Given the description of an element on the screen output the (x, y) to click on. 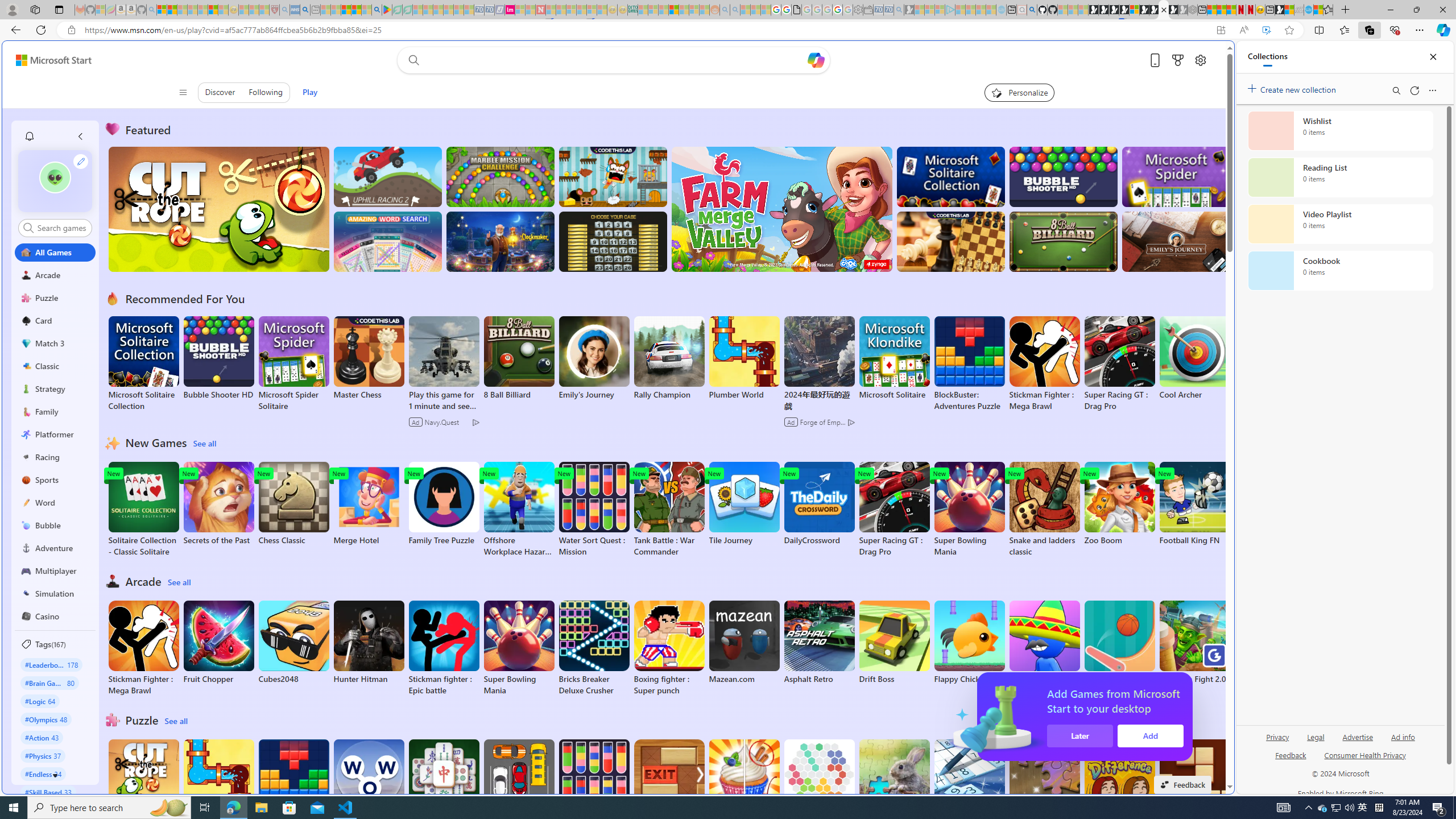
Super Racing GT : Drag Pro (894, 509)
#Physics 37 (42, 755)
Bluey: Let's Play! - Apps on Google Play (387, 9)
Rally Champion (668, 358)
World - MSN (727, 389)
